Given the description of an element on the screen output the (x, y) to click on. 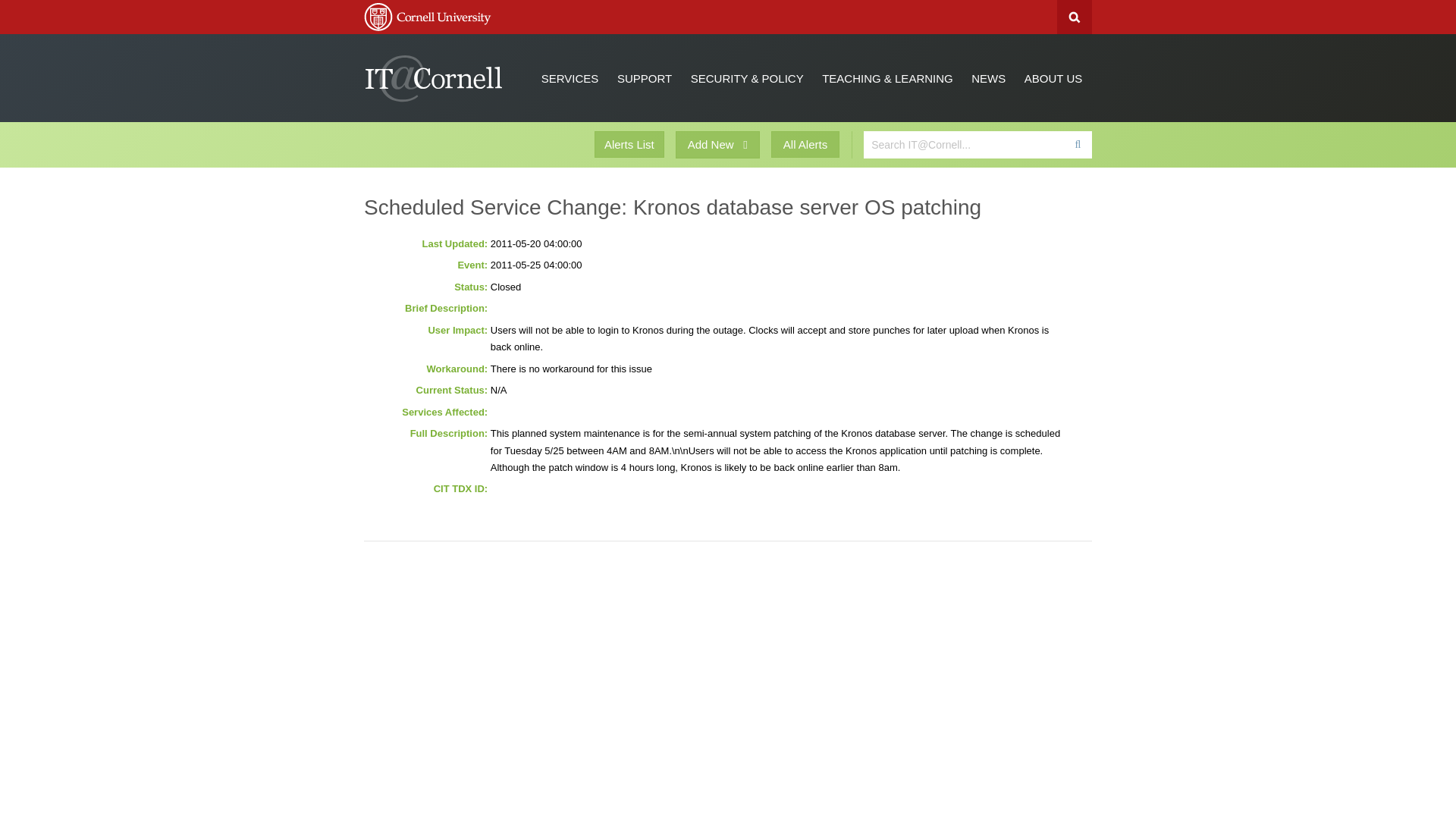
ABOUT US (1052, 77)
Alerts List (628, 144)
SERVICES (570, 77)
Search Cornell (1074, 17)
NEWS (988, 77)
go (1077, 144)
Add New (717, 144)
All Alerts (805, 144)
SUPPORT (644, 77)
